Given the description of an element on the screen output the (x, y) to click on. 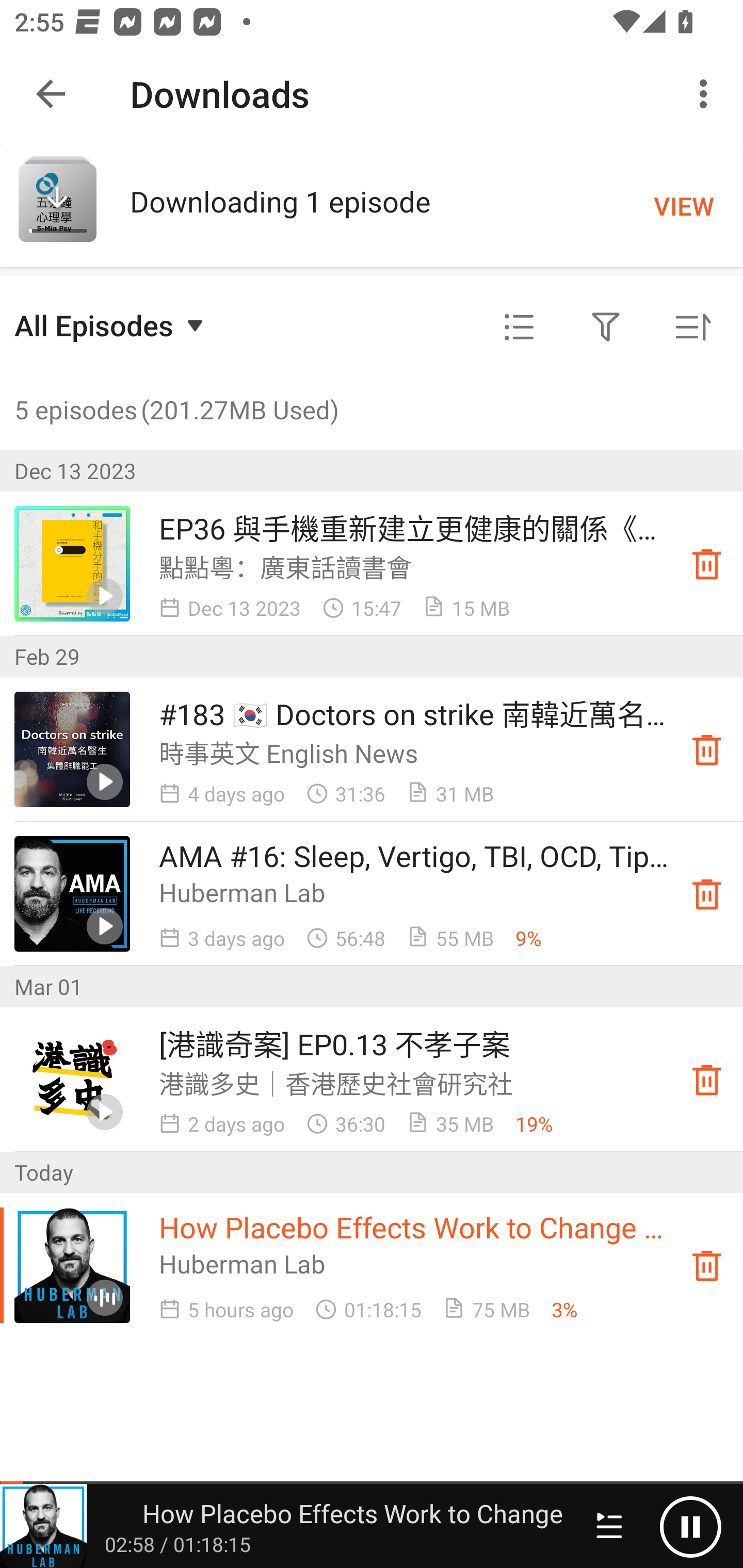
Navigate up (50, 93)
More options (706, 93)
5.0 Downloading 1 episode VIEW (371, 205)
All Episodes (111, 325)
 (518, 327)
 (605, 327)
 Sorted by oldest first (692, 327)
Downloaded (706, 563)
Downloaded (706, 749)
Downloaded (706, 893)
Downloaded (706, 1079)
Downloaded (706, 1265)
Pause (690, 1526)
